Given the description of an element on the screen output the (x, y) to click on. 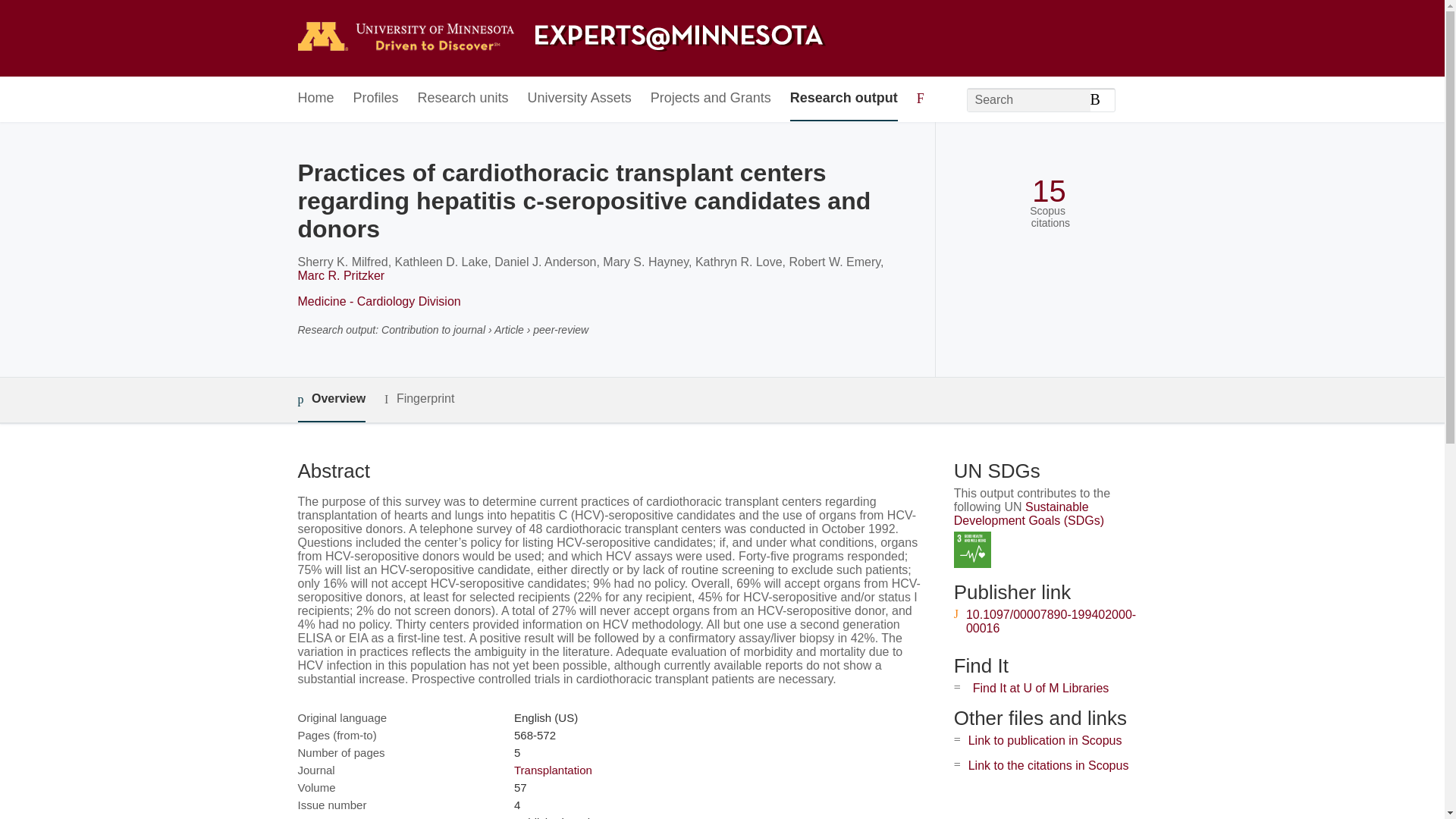
Medicine - Cardiology Division (378, 300)
Marc R. Pritzker (340, 275)
Fingerprint (419, 398)
Overview (331, 399)
15 (1048, 191)
Research units (462, 98)
Projects and Grants (710, 98)
Link to the citations in Scopus (1048, 765)
Research output (844, 98)
SDG 3 - Good Health and Well-being (972, 549)
University Assets (579, 98)
Profiles (375, 98)
Home (315, 98)
Find It at U of M Libraries (1040, 687)
